Given the description of an element on the screen output the (x, y) to click on. 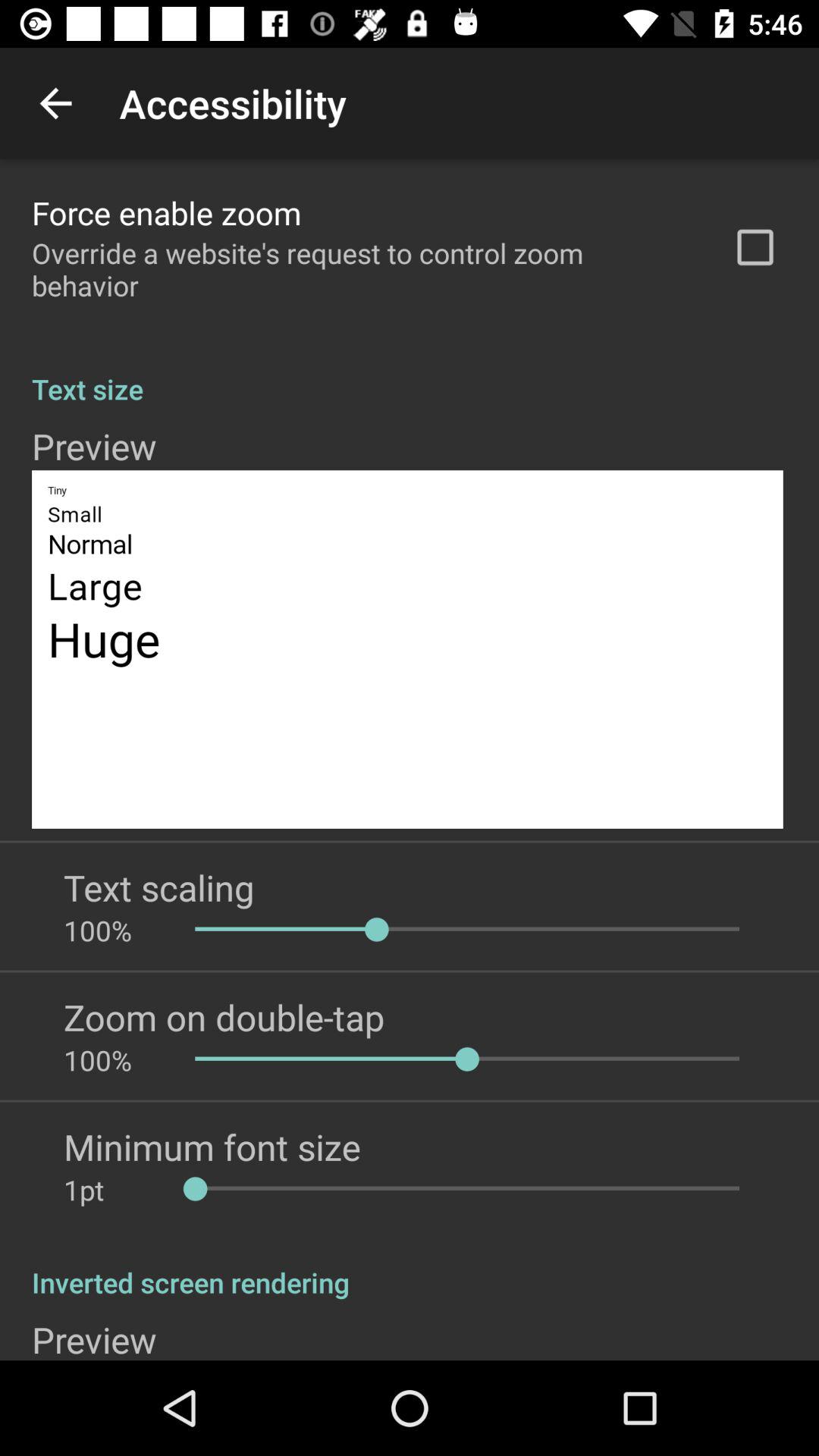
launch icon above the force enable zoom (55, 103)
